Given the description of an element on the screen output the (x, y) to click on. 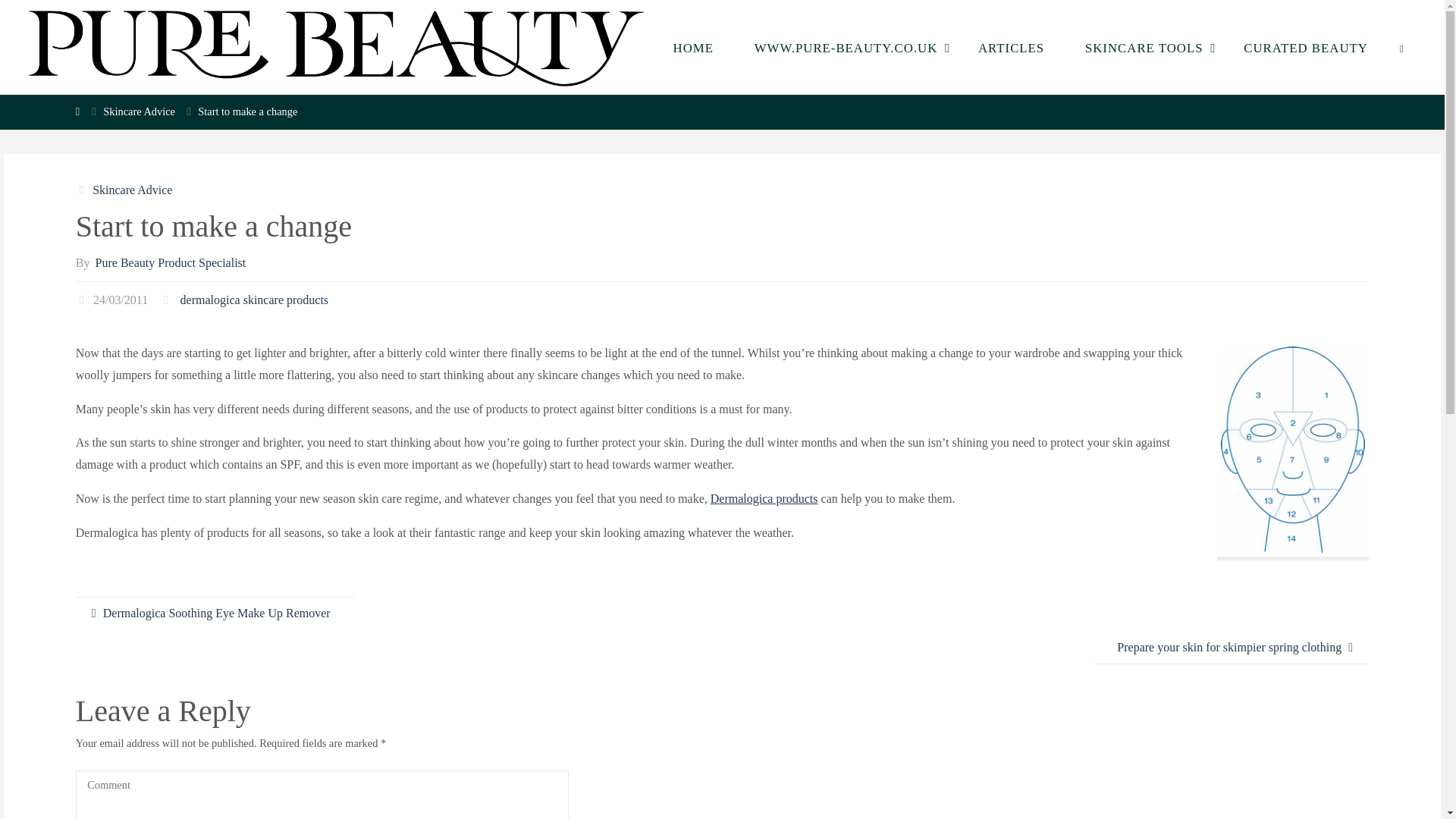
View all posts by Pure Beauty Product Specialist (169, 262)
WWW.PURE-BEAUTY.CO.UK (845, 47)
SKINCARE TOOLS (1143, 47)
Skincare Advice (138, 111)
Pure Beauty Product Specialist (169, 262)
ARTICLES (1011, 47)
Skincare Advice (130, 189)
Date (82, 299)
Tagged (167, 299)
CURATED BEAUTY (1305, 47)
Pure Beauty Professional Skincare (336, 47)
Categories (82, 189)
